Given the description of an element on the screen output the (x, y) to click on. 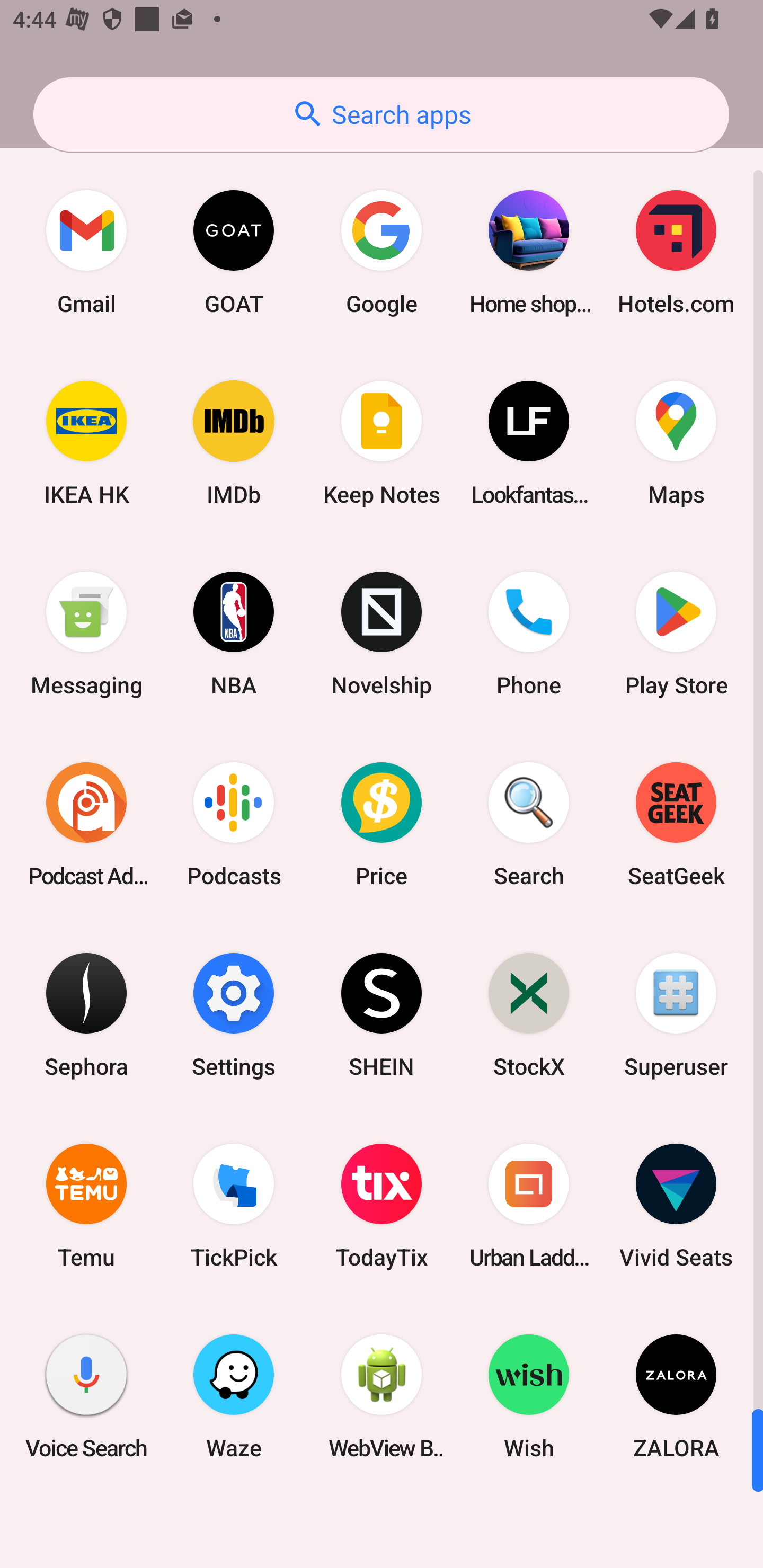
  Search apps (381, 114)
Gmail (86, 252)
GOAT (233, 252)
Google (381, 252)
Home shopping (528, 252)
Hotels.com (676, 252)
IKEA HK (86, 442)
IMDb (233, 442)
Keep Notes (381, 442)
Lookfantastic (528, 442)
Maps (676, 442)
Messaging (86, 633)
NBA (233, 633)
Novelship (381, 633)
Phone (528, 633)
Play Store (676, 633)
Podcast Addict (86, 823)
Podcasts (233, 823)
Price (381, 823)
Search (528, 823)
SeatGeek (676, 823)
Sephora (86, 1014)
Settings (233, 1014)
SHEIN (381, 1014)
StockX (528, 1014)
Superuser (676, 1014)
Temu (86, 1205)
TickPick (233, 1205)
TodayTix (381, 1205)
Urban Ladder (528, 1205)
Vivid Seats (676, 1205)
Voice Search (86, 1396)
Waze (233, 1396)
WebView Browser Tester (381, 1396)
Wish (528, 1396)
ZALORA (676, 1396)
